Given the description of an element on the screen output the (x, y) to click on. 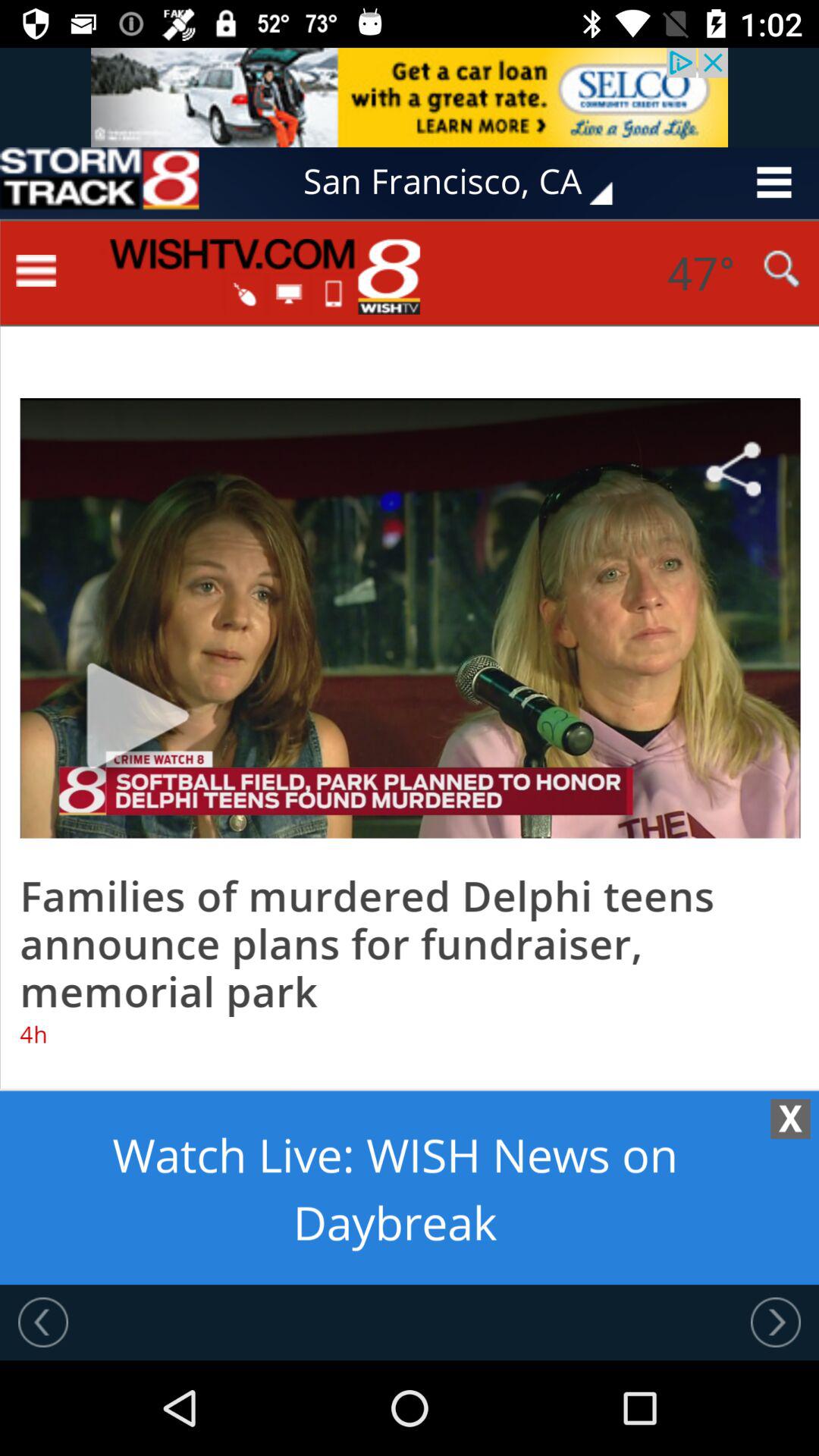
go to storm track 8 (99, 182)
